Given the description of an element on the screen output the (x, y) to click on. 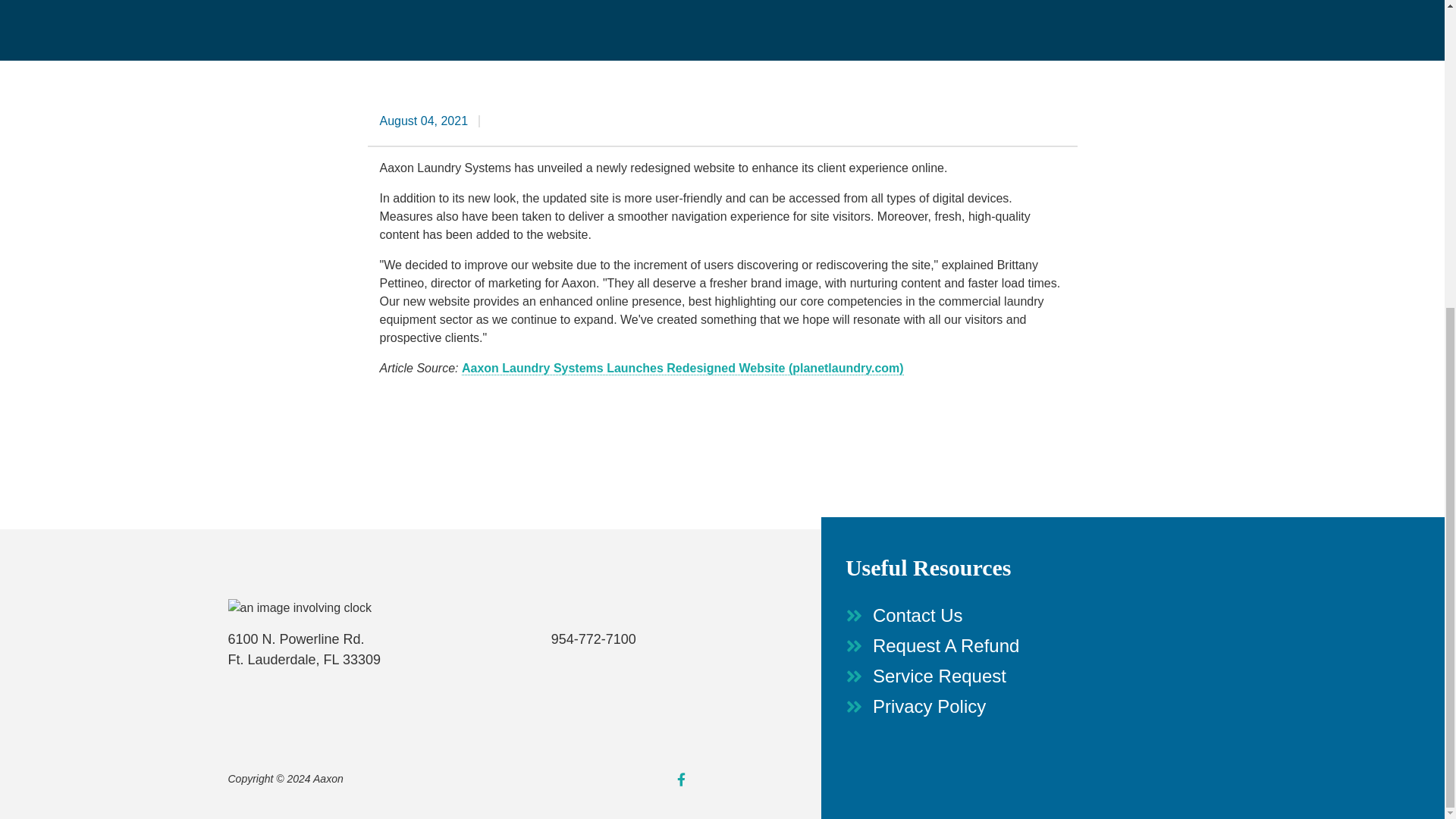
Facebook (680, 779)
YouTube (710, 779)
LinkedIn (741, 779)
